Given the description of an element on the screen output the (x, y) to click on. 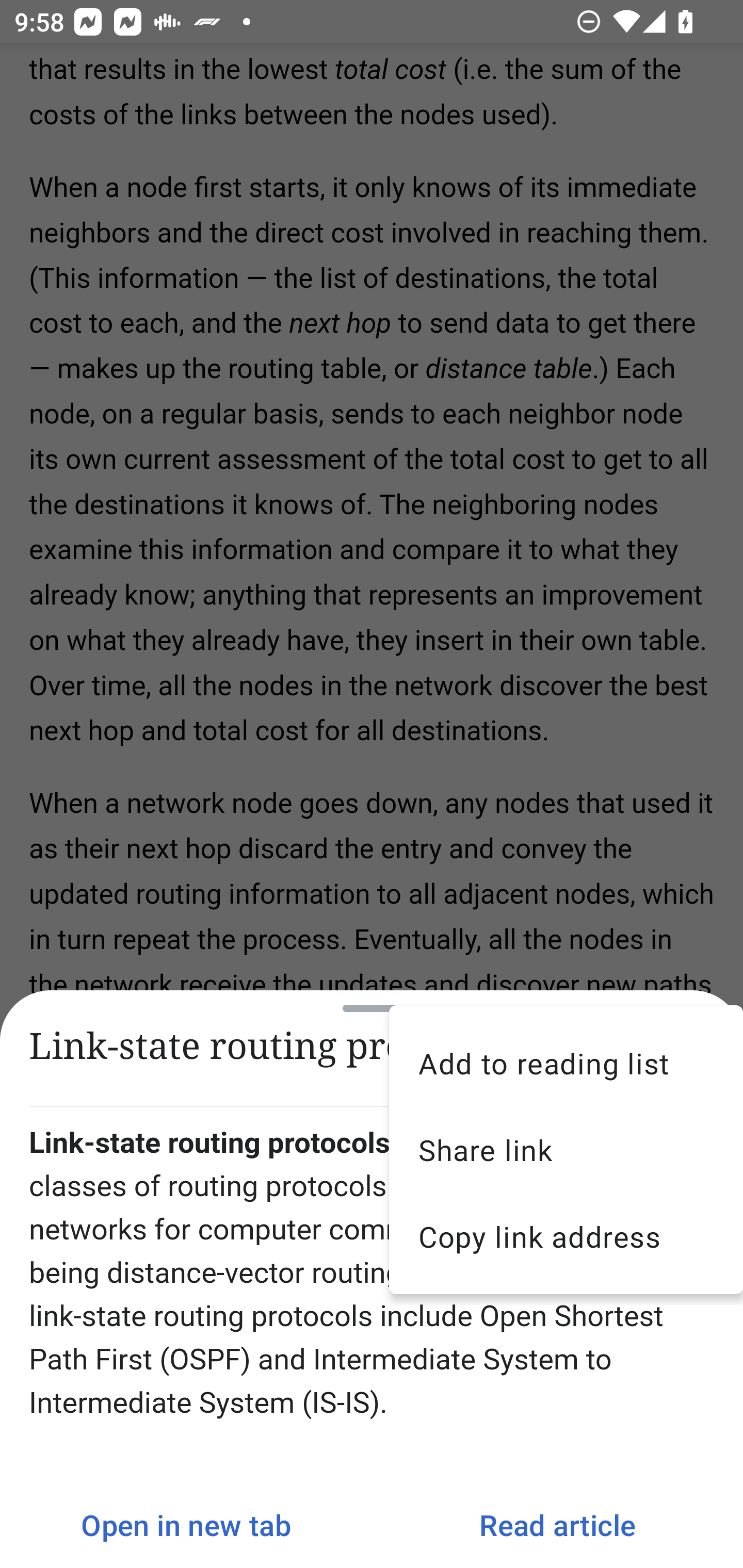
Add to reading list (566, 1063)
Share link (566, 1150)
Copy link address (566, 1236)
